Given the description of an element on the screen output the (x, y) to click on. 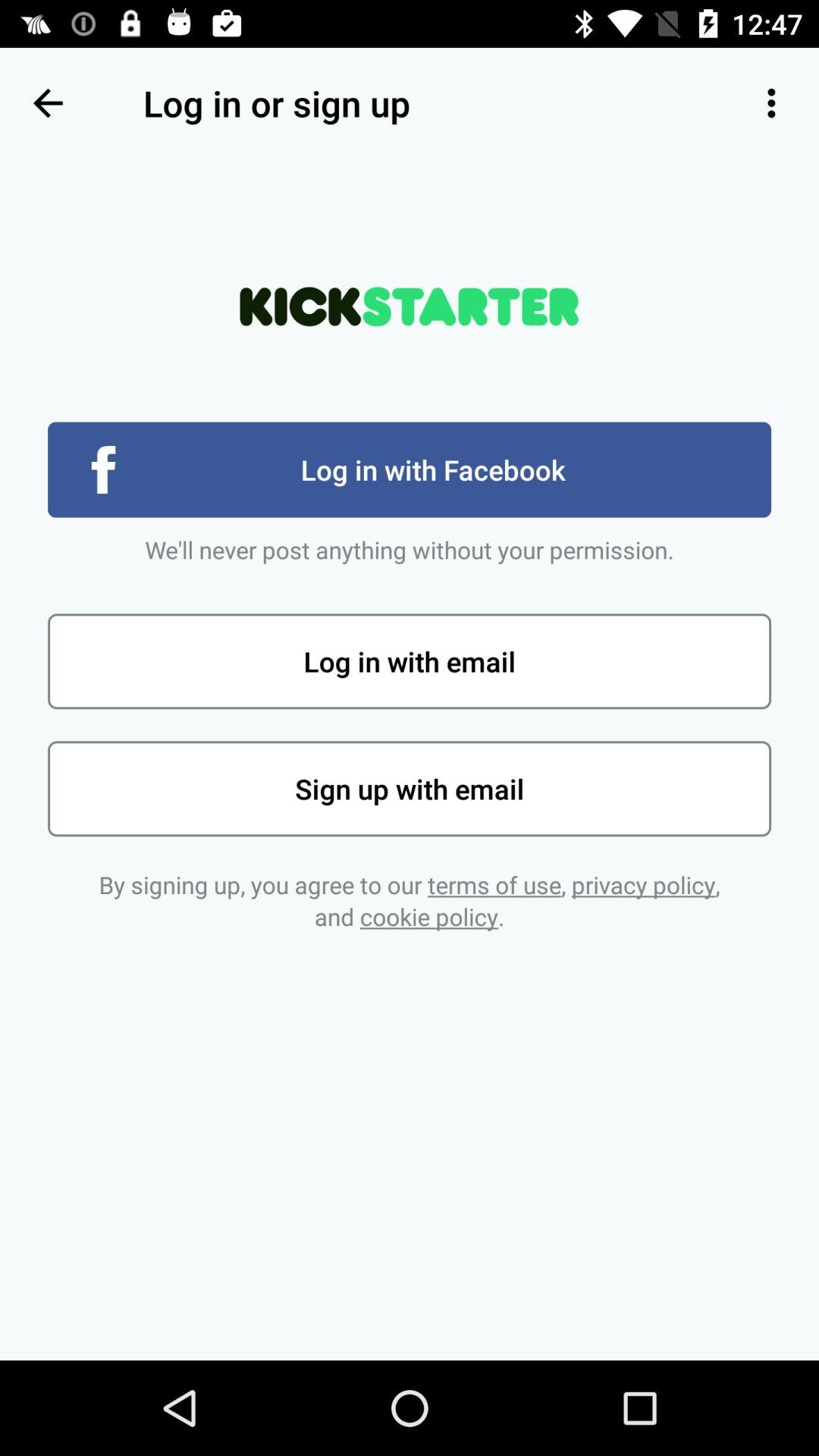
open item to the right of the log in or icon (771, 103)
